Given the description of an element on the screen output the (x, y) to click on. 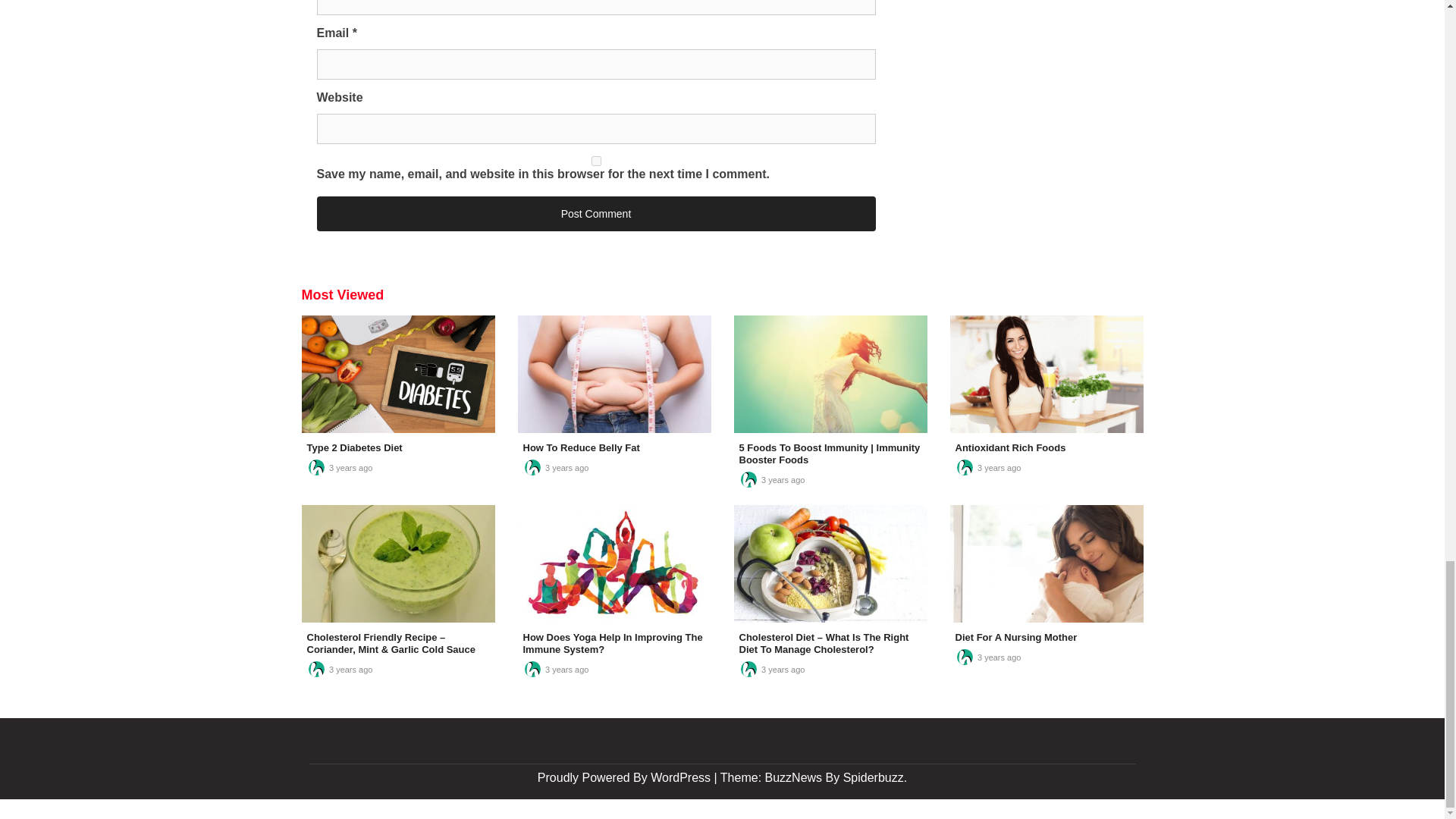
yes (596, 161)
Post Comment (596, 213)
Post Comment (596, 213)
